Given the description of an element on the screen output the (x, y) to click on. 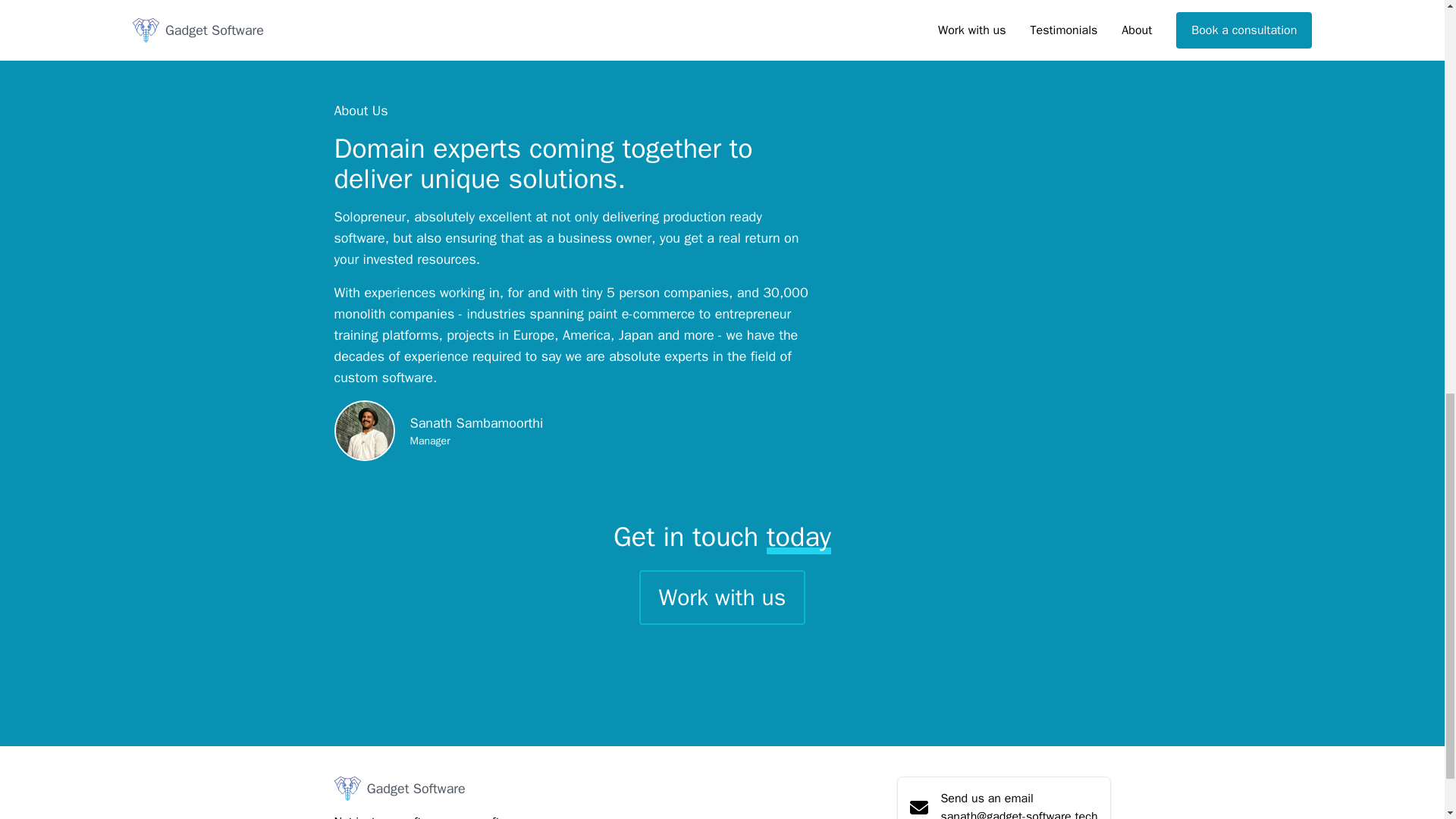
Work with us (722, 597)
Gadget Software (428, 788)
